Given the description of an element on the screen output the (x, y) to click on. 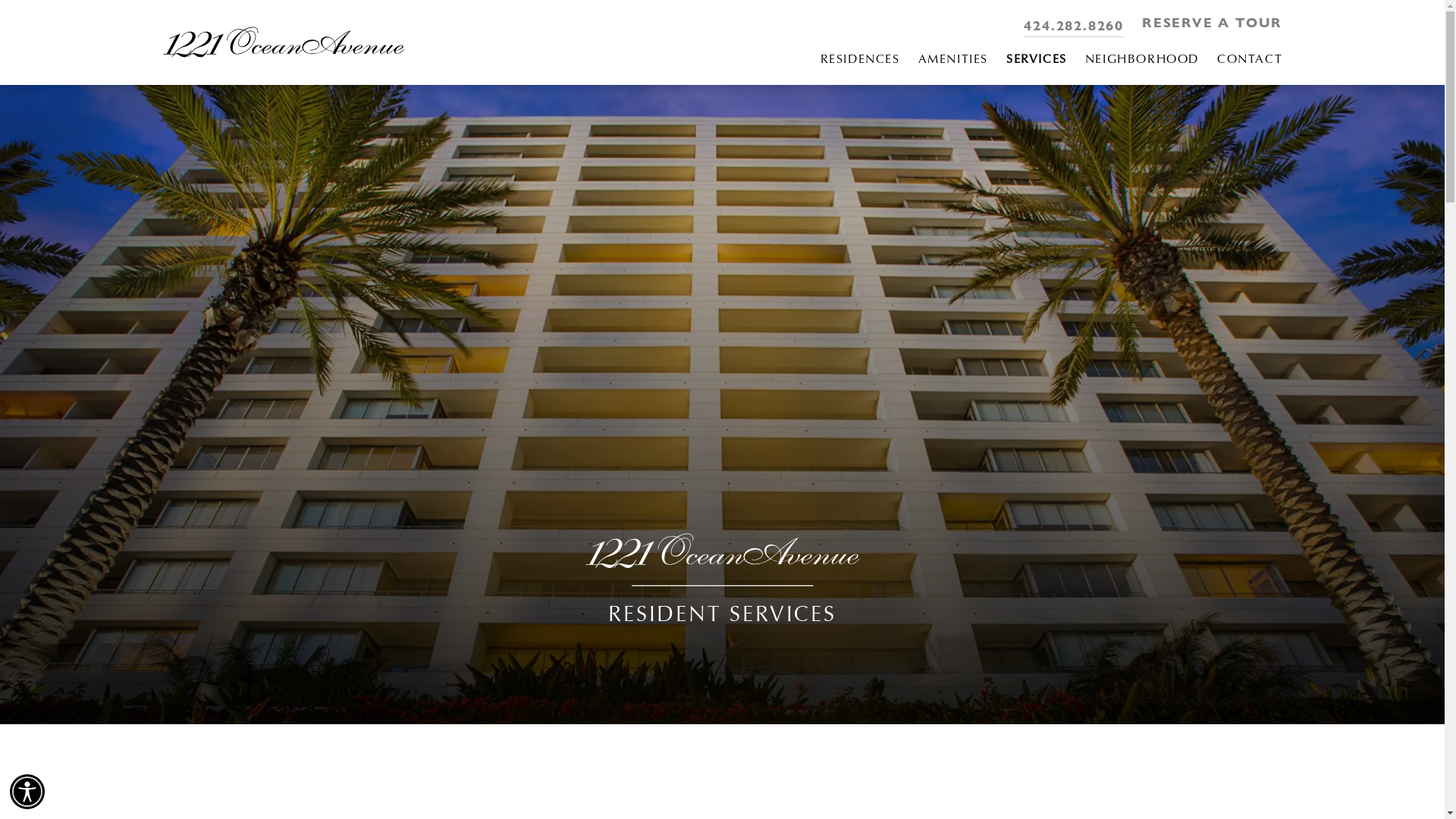
424.282.8260 Element type: text (1073, 25)
RESIDENCES Element type: text (860, 60)
SERVICES Element type: text (1036, 60)
NEIGHBORHOOD Element type: text (1141, 60)
AMENITIES Element type: text (953, 60)
